Given the description of an element on the screen output the (x, y) to click on. 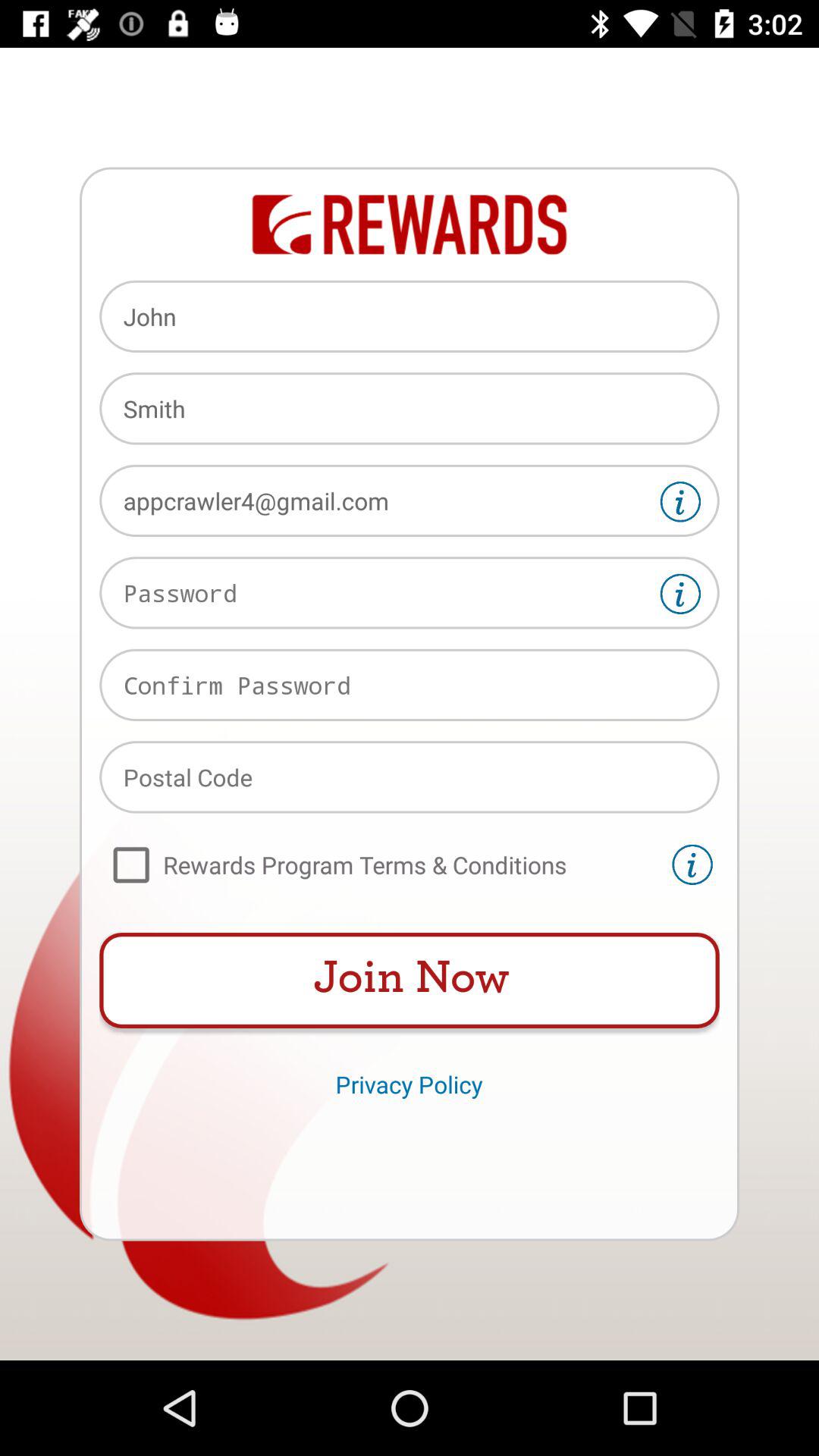
confirm password by entering box (409, 684)
